Given the description of an element on the screen output the (x, y) to click on. 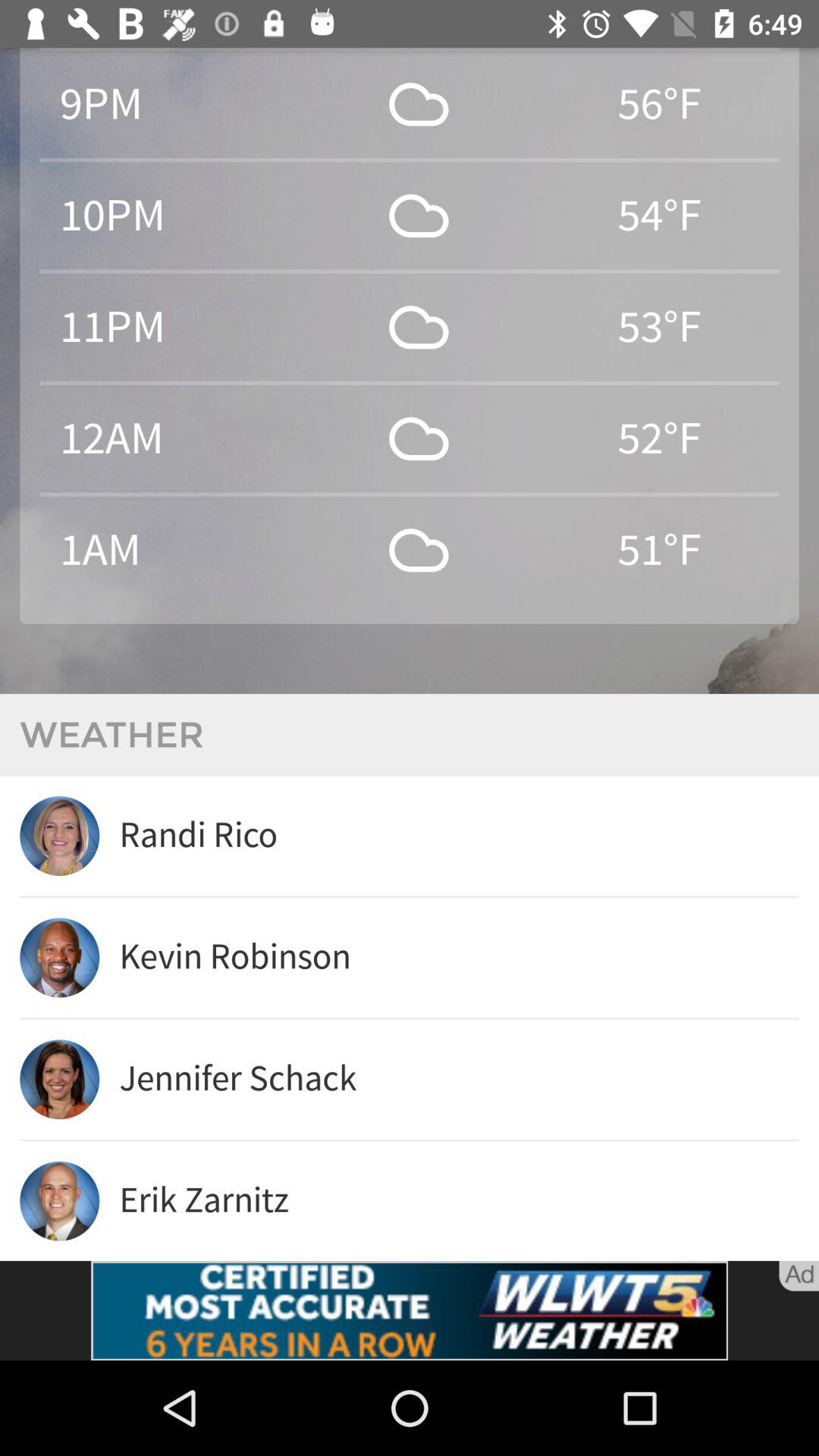
select advertisement (409, 1310)
